Given the description of an element on the screen output the (x, y) to click on. 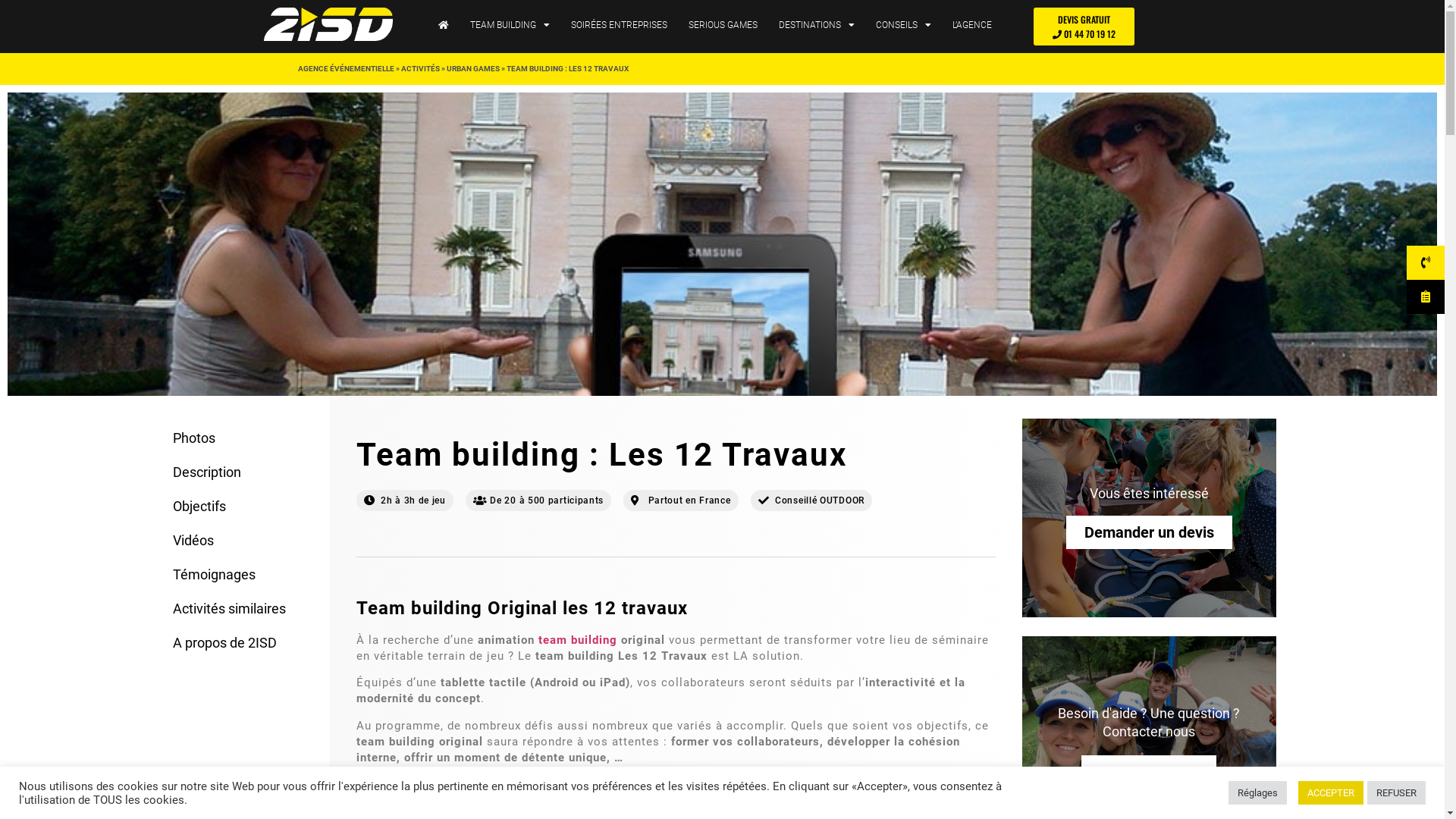
Photos Element type: text (244, 437)
URBAN GAMES Element type: text (471, 68)
Objectifs Element type: text (244, 505)
SERIOUS GAMES Element type: text (722, 24)
Description Element type: text (244, 471)
REFUSER Element type: text (1396, 792)
01 44 70 19 12 Element type: text (1148, 771)
DEVIS GRATUIT
01 44 70 19 12 Element type: text (1083, 26)
CONSEILS Element type: text (903, 24)
DESTINATIONS Element type: text (816, 24)
Demander un devis Element type: text (1149, 532)
ACCEPTER Element type: text (1330, 792)
team building Element type: text (577, 639)
TEAM BUILDING Element type: text (509, 24)
A propos de 2ISD Element type: text (244, 642)
